Given the description of an element on the screen output the (x, y) to click on. 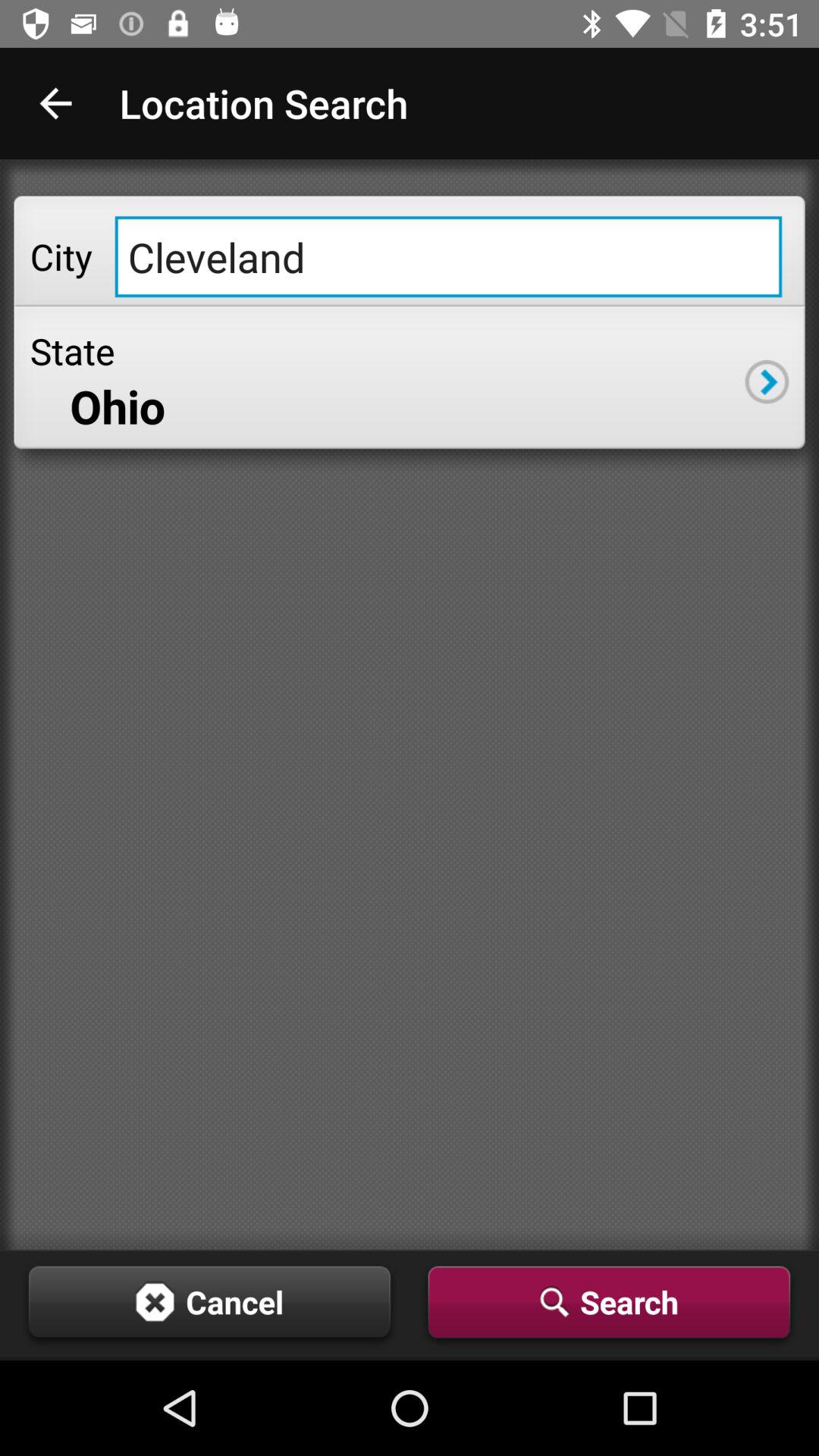
select icon above state (448, 256)
